Given the description of an element on the screen output the (x, y) to click on. 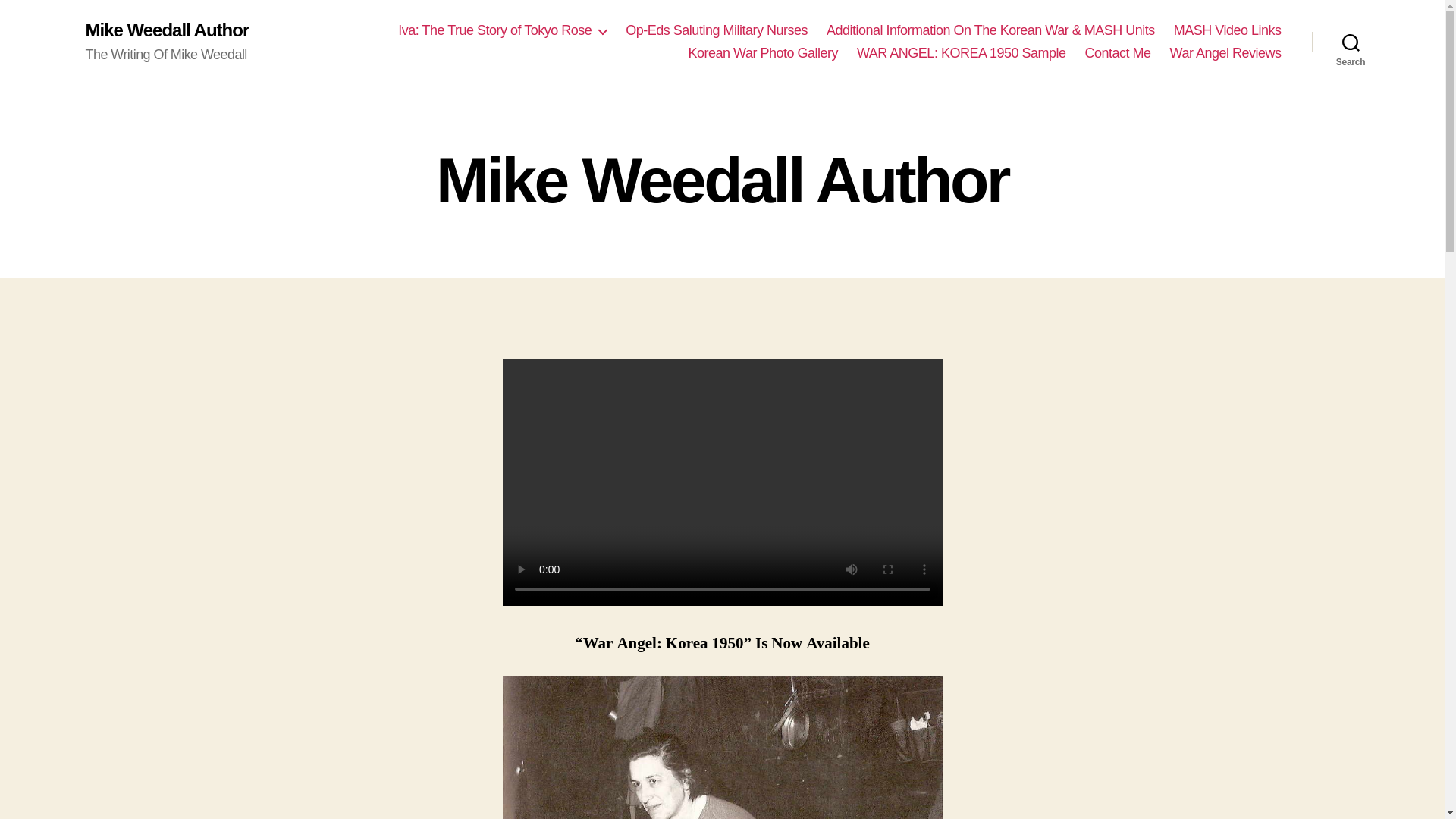
MASH Video Links (1227, 30)
Korean War Photo Gallery (763, 53)
Iva: The True Story of Tokyo Rose (502, 30)
Mike Weedall Author (166, 30)
WAR ANGEL: KOREA 1950 Sample (961, 53)
Contact Me (1117, 53)
Op-Eds Saluting Military Nurses (717, 30)
War Angel Reviews (1225, 53)
Search (1350, 41)
